Given the description of an element on the screen output the (x, y) to click on. 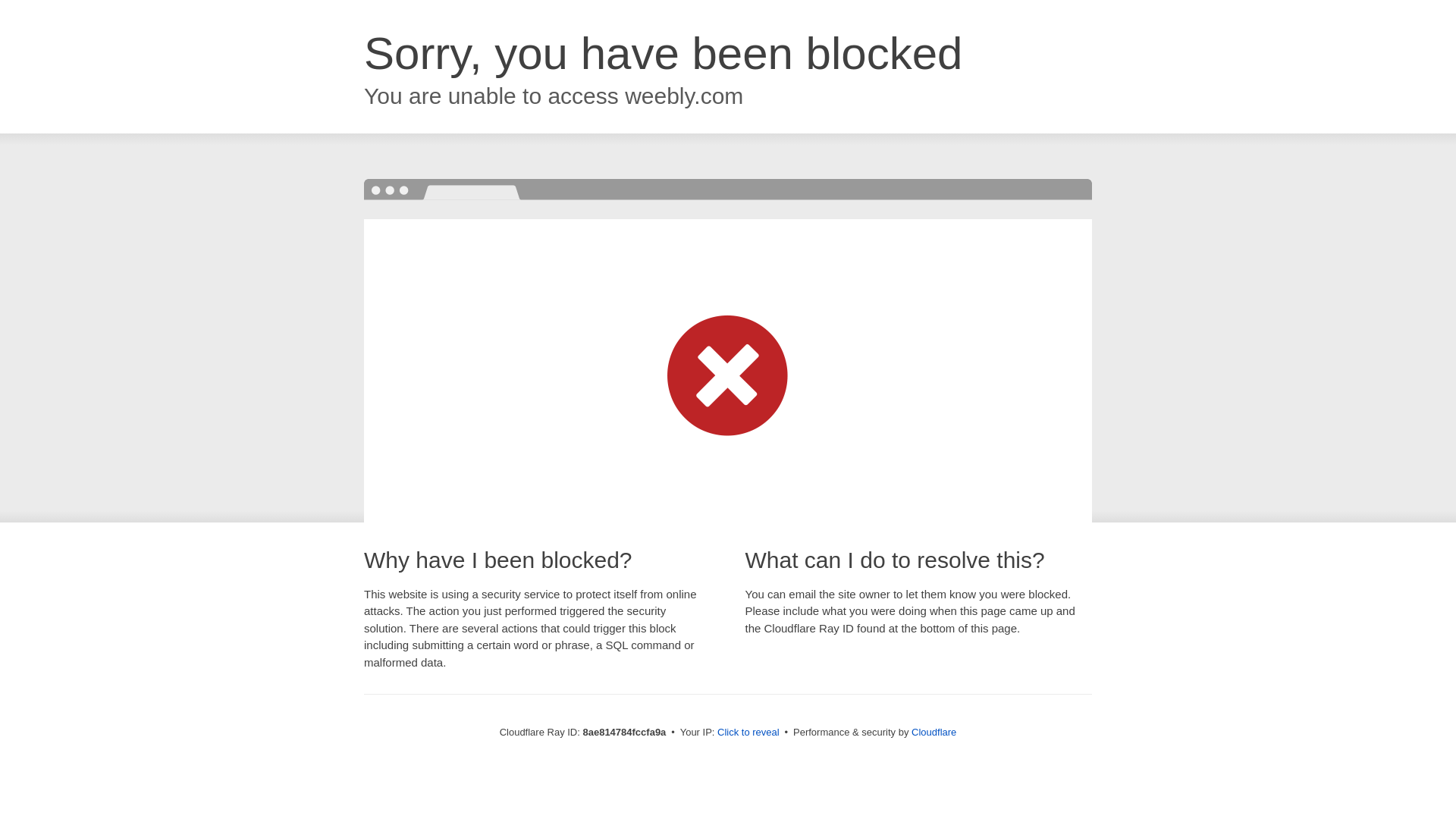
Cloudflare (933, 731)
Click to reveal (747, 732)
